Given the description of an element on the screen output the (x, y) to click on. 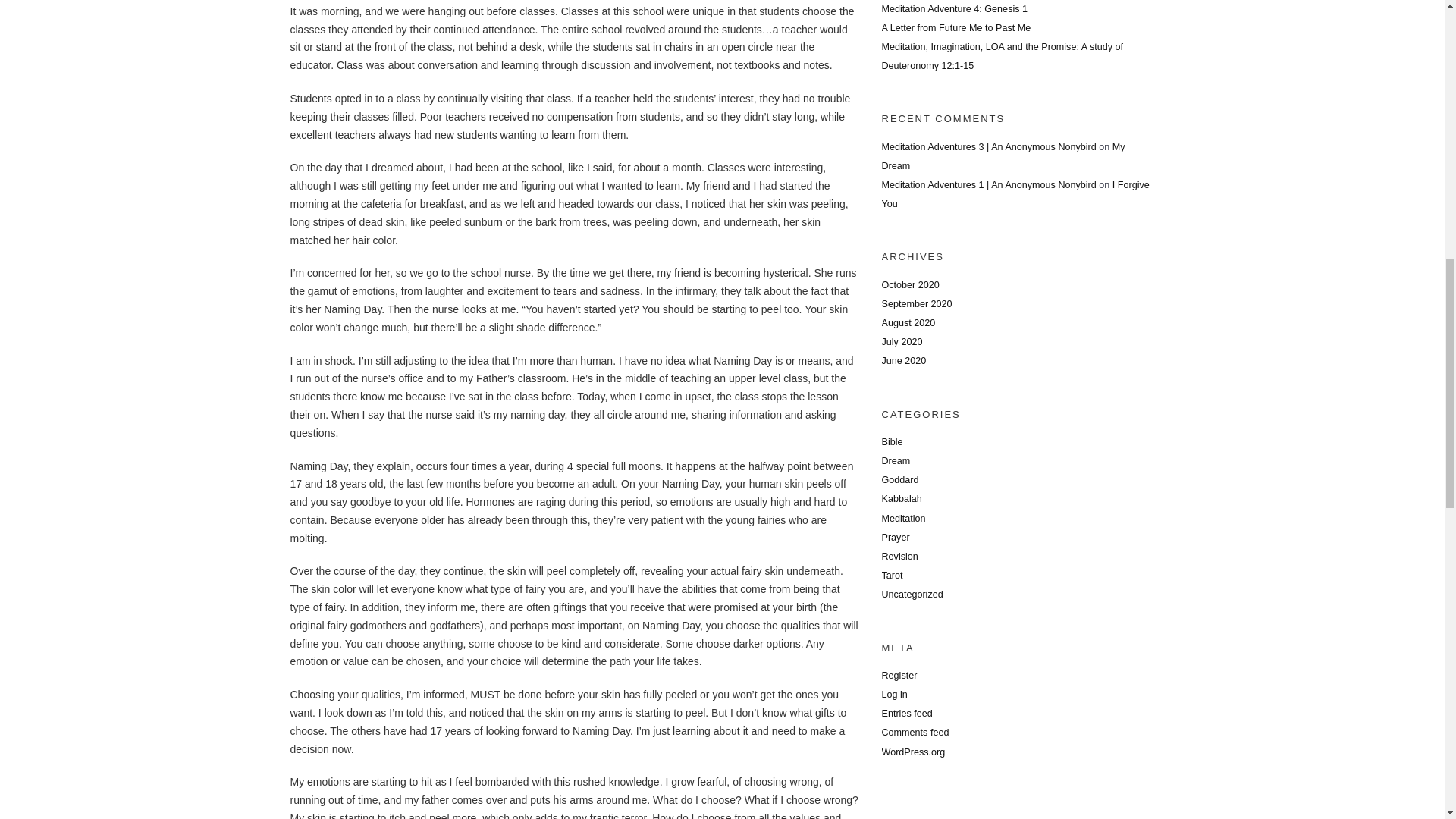
June 2020 (903, 360)
Meditation Adventure 4: Genesis 1 (953, 9)
My Dream (1002, 156)
July 2020 (900, 341)
Kabbalah (900, 498)
October 2020 (909, 285)
September 2020 (916, 303)
A Letter from Future Me to Past Me (955, 27)
August 2020 (907, 322)
Bible (891, 441)
I Forgive You (1014, 194)
Goddard (899, 480)
Dream (895, 460)
